Given the description of an element on the screen output the (x, y) to click on. 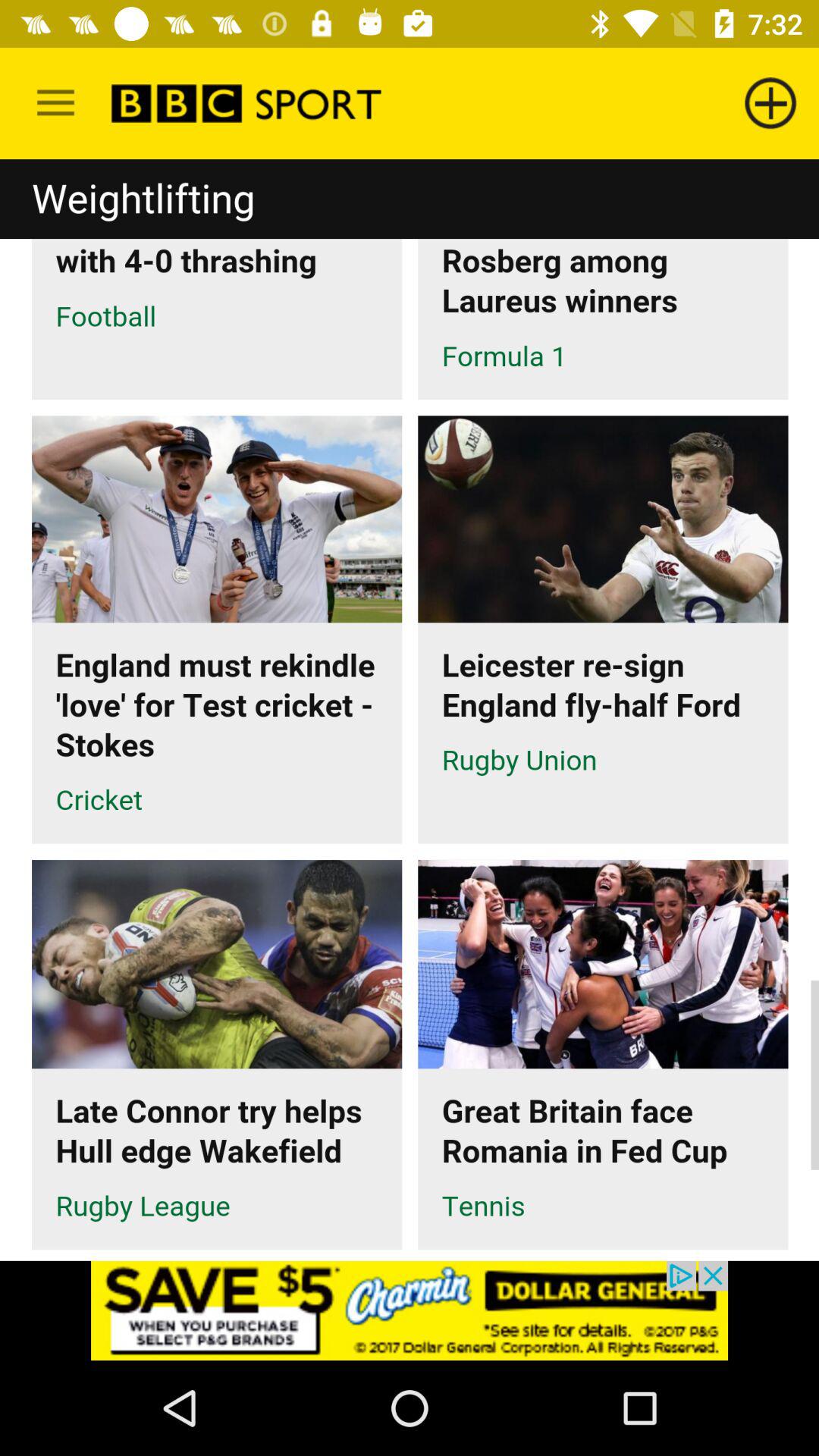
games (409, 709)
